Given the description of an element on the screen output the (x, y) to click on. 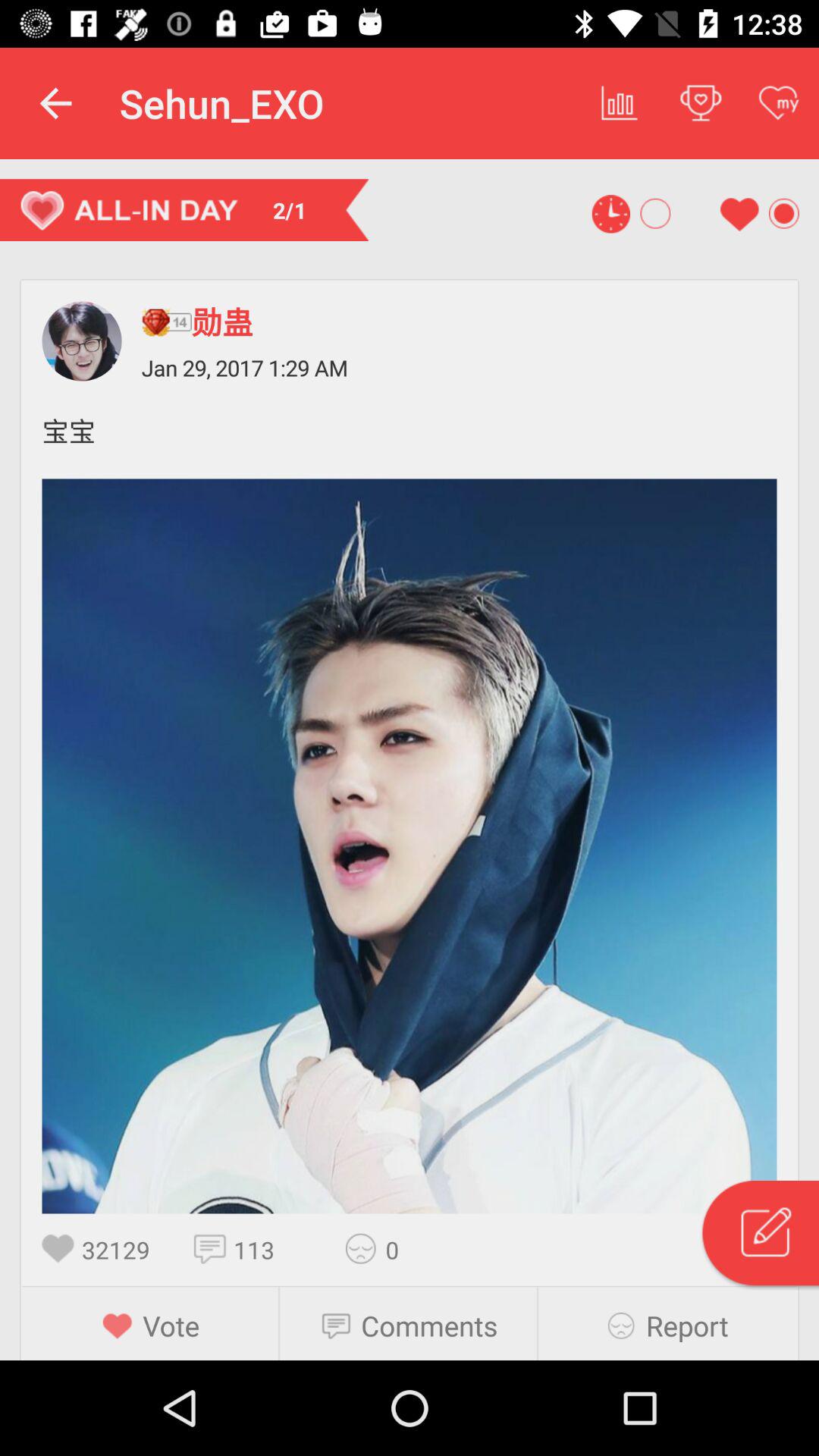
go to previous (409, 845)
